Given the description of an element on the screen output the (x, y) to click on. 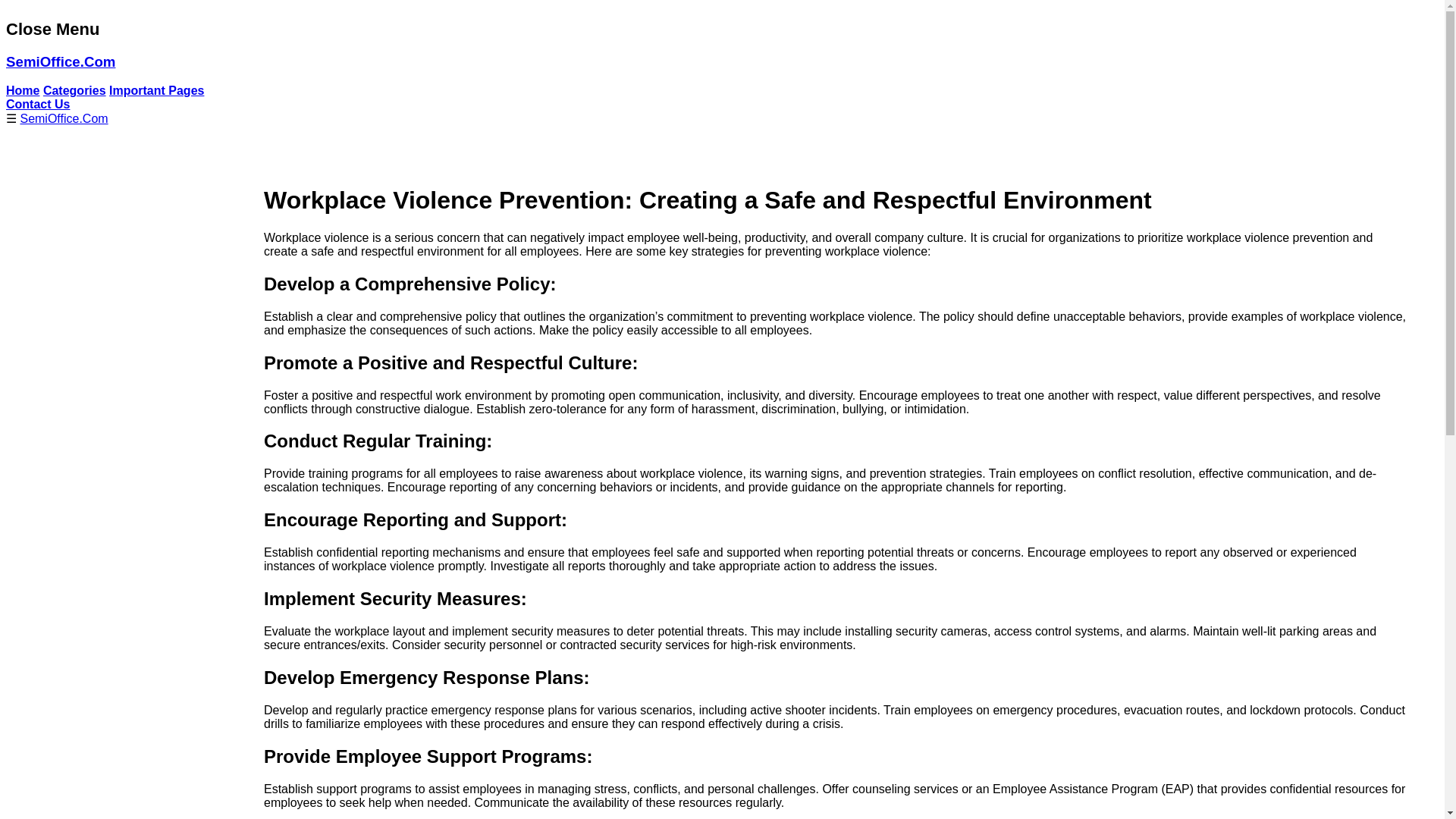
Close Menu (52, 28)
Important Pages (156, 90)
Home (22, 90)
SemiOffice.Com (63, 118)
Contact Us (37, 103)
Categories (74, 90)
SemiOffice.Com (60, 61)
